Given the description of an element on the screen output the (x, y) to click on. 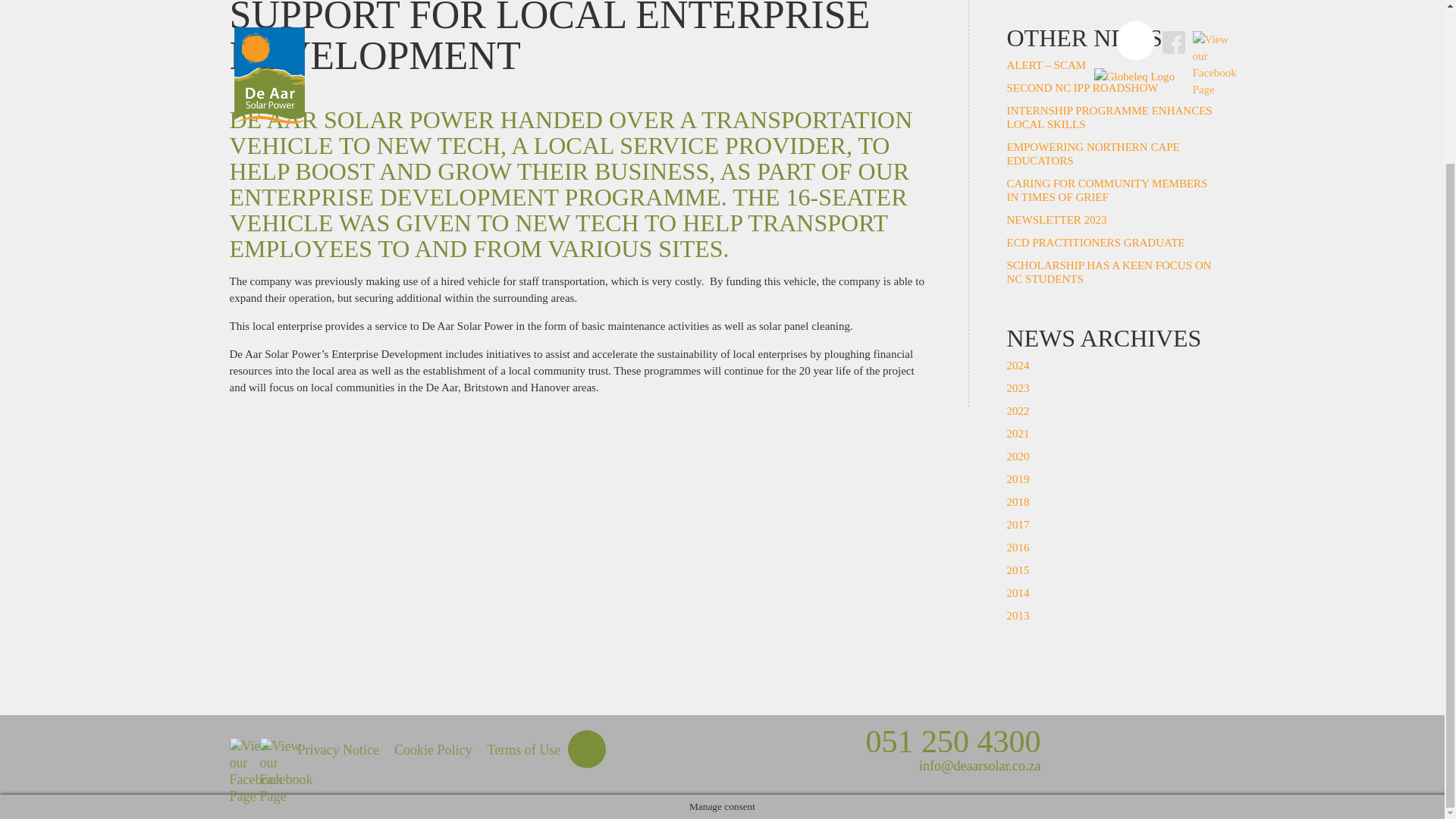
EMPOWERING NORTHERN CAPE EDUCATORS (1093, 153)
SECOND NC IPP ROADSHOW (1082, 87)
ECD PRACTITIONERS GRADUATE (1096, 242)
NEWSLETTER 2023 (1056, 219)
De Aar Solar Power on Facebook (239, 748)
CARING FOR COMMUNITY MEMBERS IN TIMES OF GRIEF (1107, 190)
SCHOLARSHIP HAS A KEEN FOCUS ON NC STUDENTS (1109, 272)
De Aar Solar Power on Facebook (270, 748)
Email us (979, 765)
INTERNSHIP PROGRAMME ENHANCES LOCAL SKILLS (1109, 117)
